Given the description of an element on the screen output the (x, y) to click on. 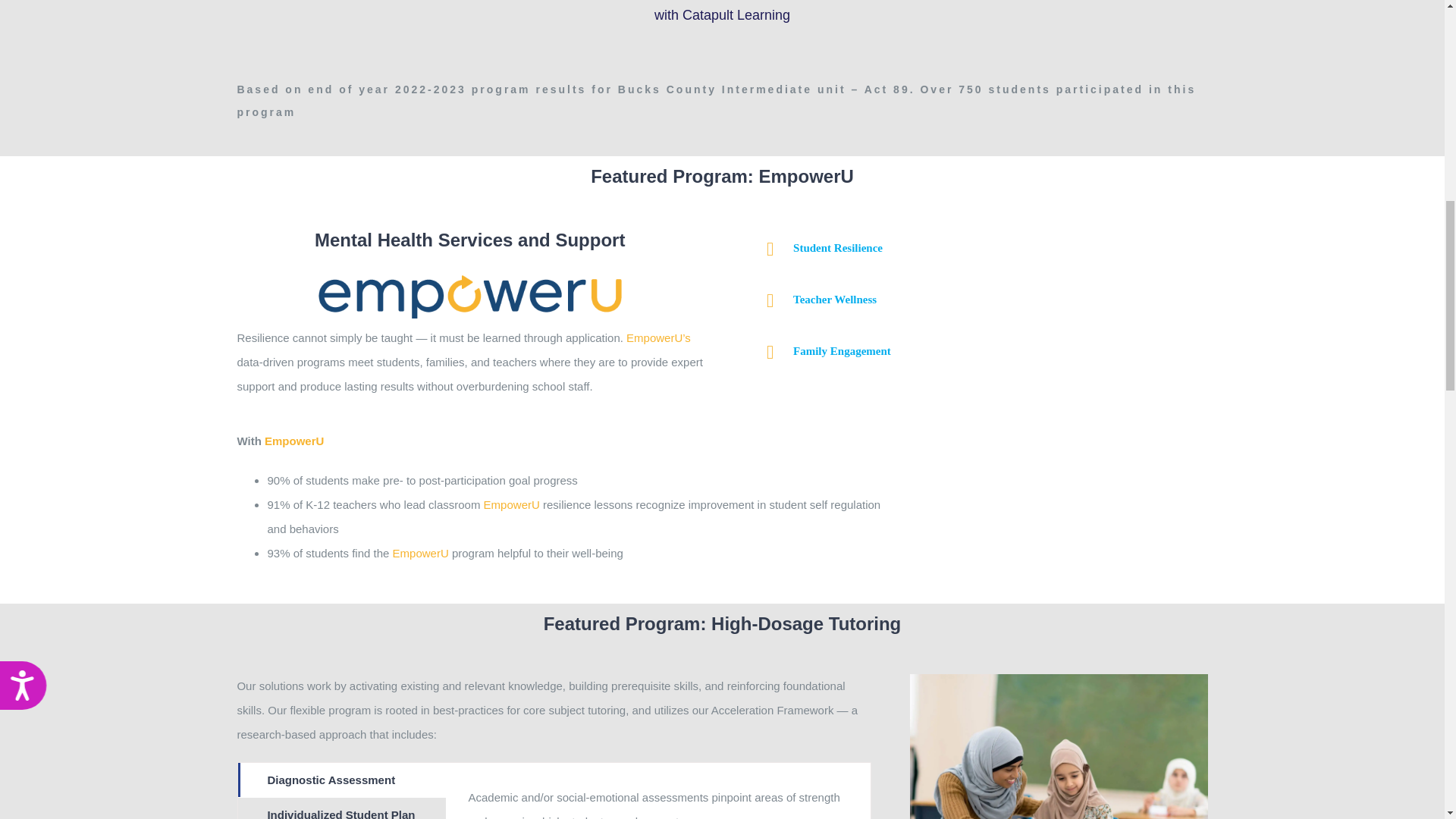
EmpowerU-tag-RGB (469, 296)
